Given the description of an element on the screen output the (x, y) to click on. 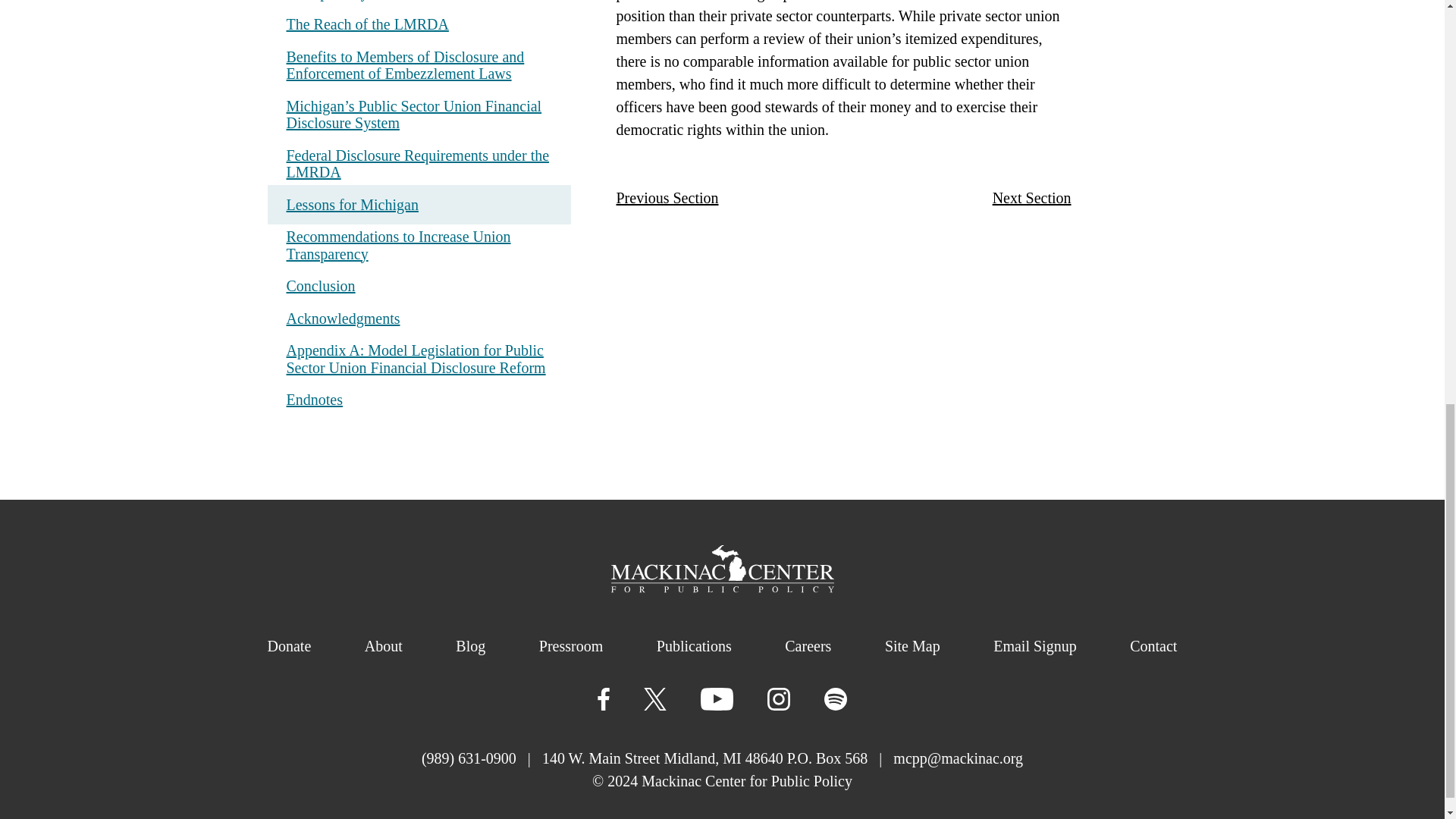
Donate (288, 644)
Federal Disclosure Requirements under the LMRDA (418, 163)
Next Section (1031, 197)
About (384, 644)
Previous Section (666, 197)
Endnotes (314, 399)
Recommendations to Increase Union Transparency (398, 245)
Lessons for Michigan (418, 205)
The Reach of the LMRDA (367, 23)
Acknowledgments (343, 317)
Pressroom (570, 644)
Conclusion (320, 285)
